Given the description of an element on the screen output the (x, y) to click on. 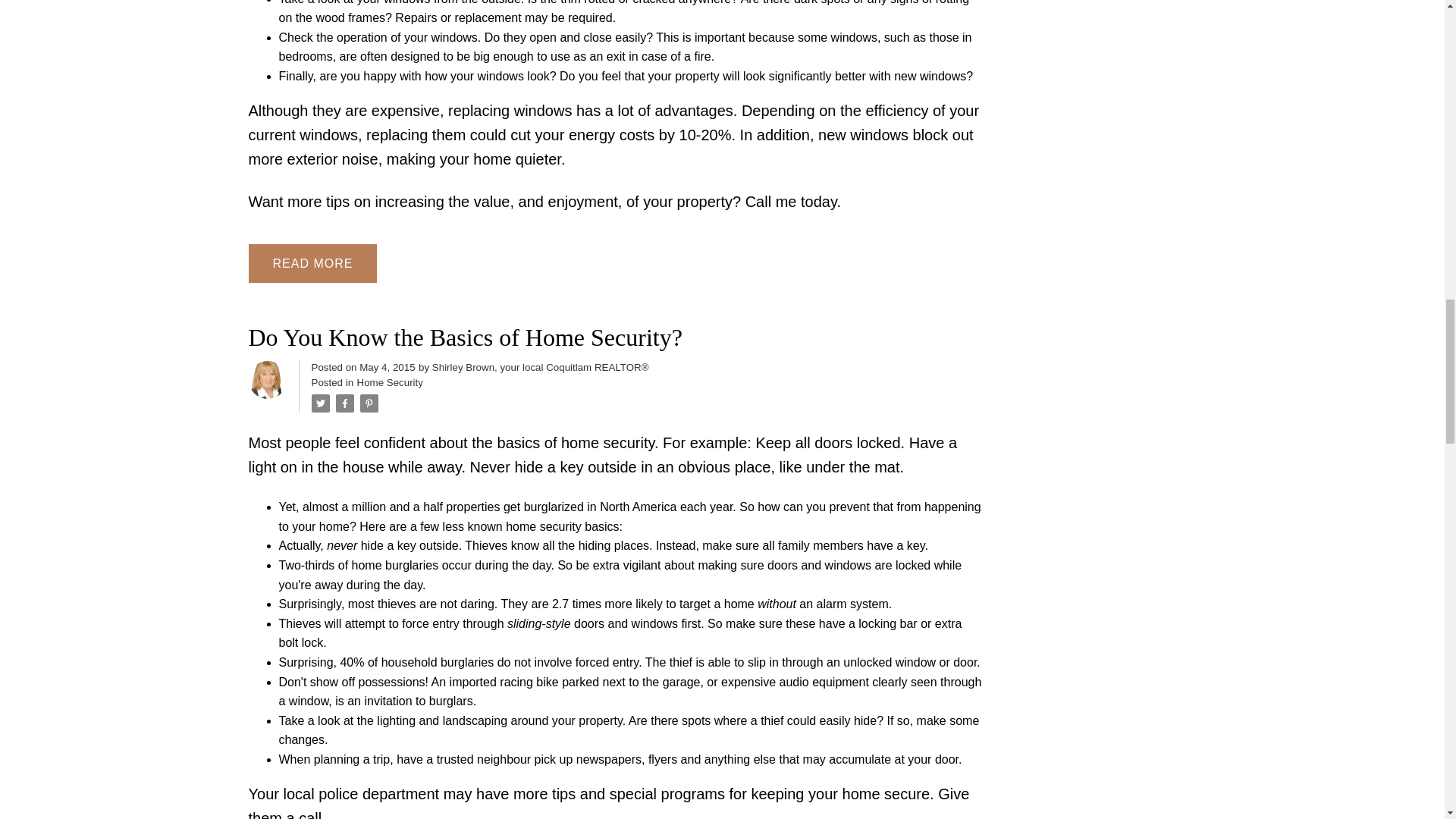
Home Security (389, 382)
Do You Know the Basics of Home Security? (616, 337)
READ (312, 263)
